Given the description of an element on the screen output the (x, y) to click on. 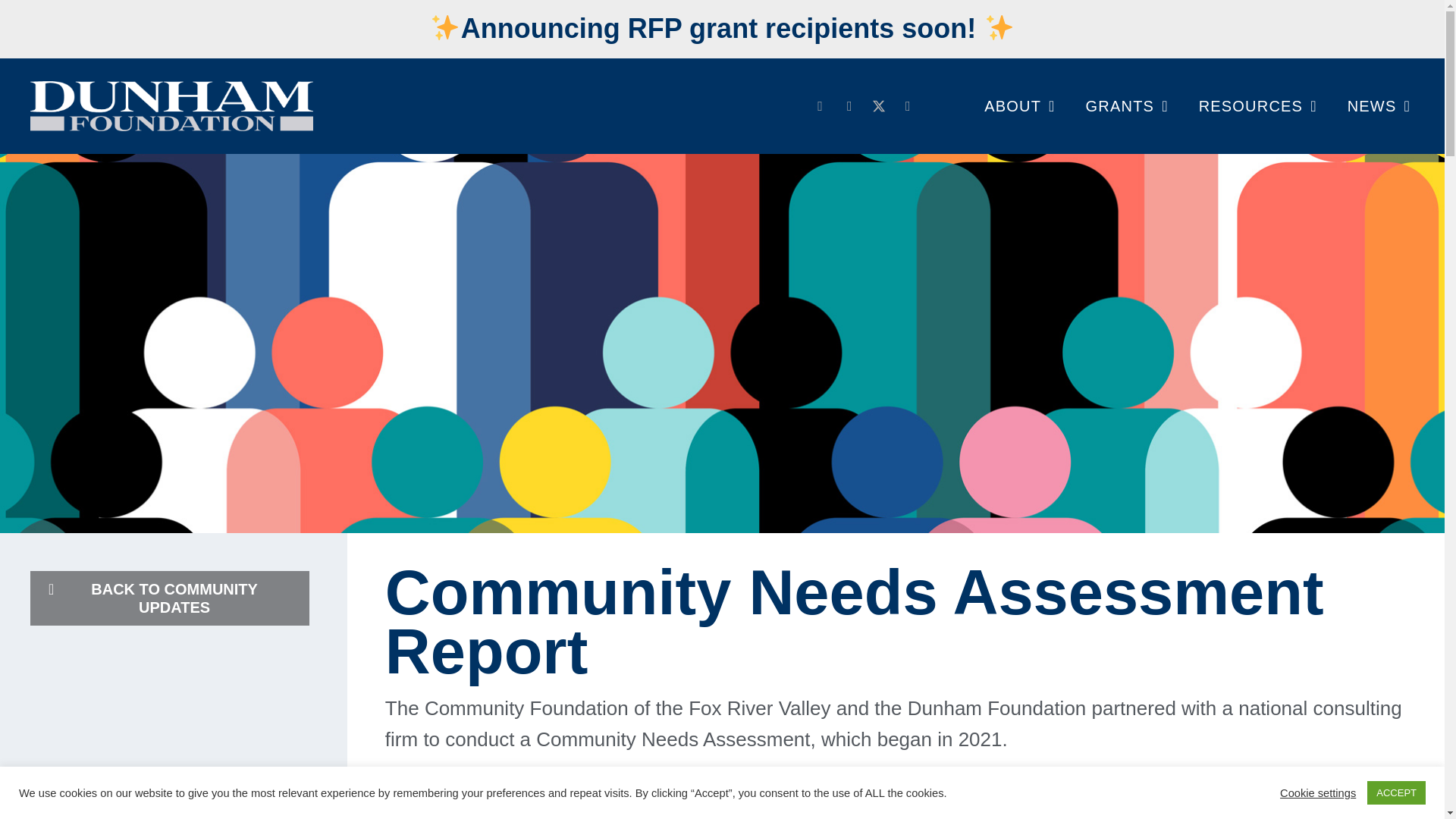
GRANTS (1126, 105)
Linkedin (849, 105)
Facebook (820, 105)
ABOUT (1019, 105)
NEWS (1378, 105)
Youtube (908, 105)
RESOURCES (1257, 105)
